Given the description of an element on the screen output the (x, y) to click on. 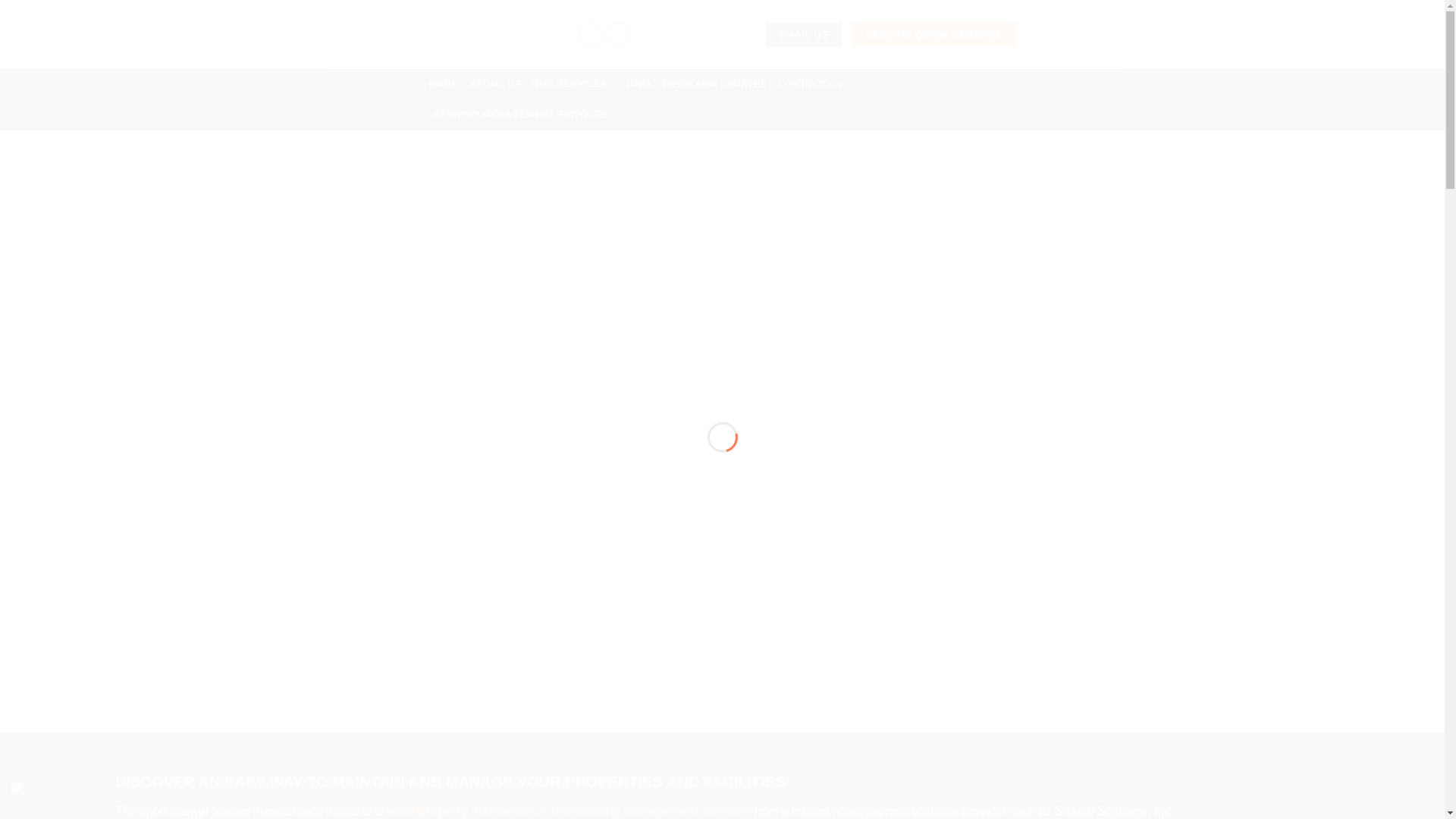
Follow on Facebook (590, 34)
SEND US QUICK MESSAGE (933, 34)
OUR SERVICES (572, 83)
Shared Solutions Inc (722, 381)
CONTACT US (810, 83)
HOME (443, 83)
JOBS (638, 83)
PARKING MANAGEMENT SERVICES (520, 114)
EMAIL US (803, 34)
ABOUT US (494, 83)
Follow on LinkedIn (617, 34)
NEWS AND UPDATES (714, 83)
avail property maintenance and building management services (569, 810)
Shared Solutions Inc (491, 34)
